Given the description of an element on the screen output the (x, y) to click on. 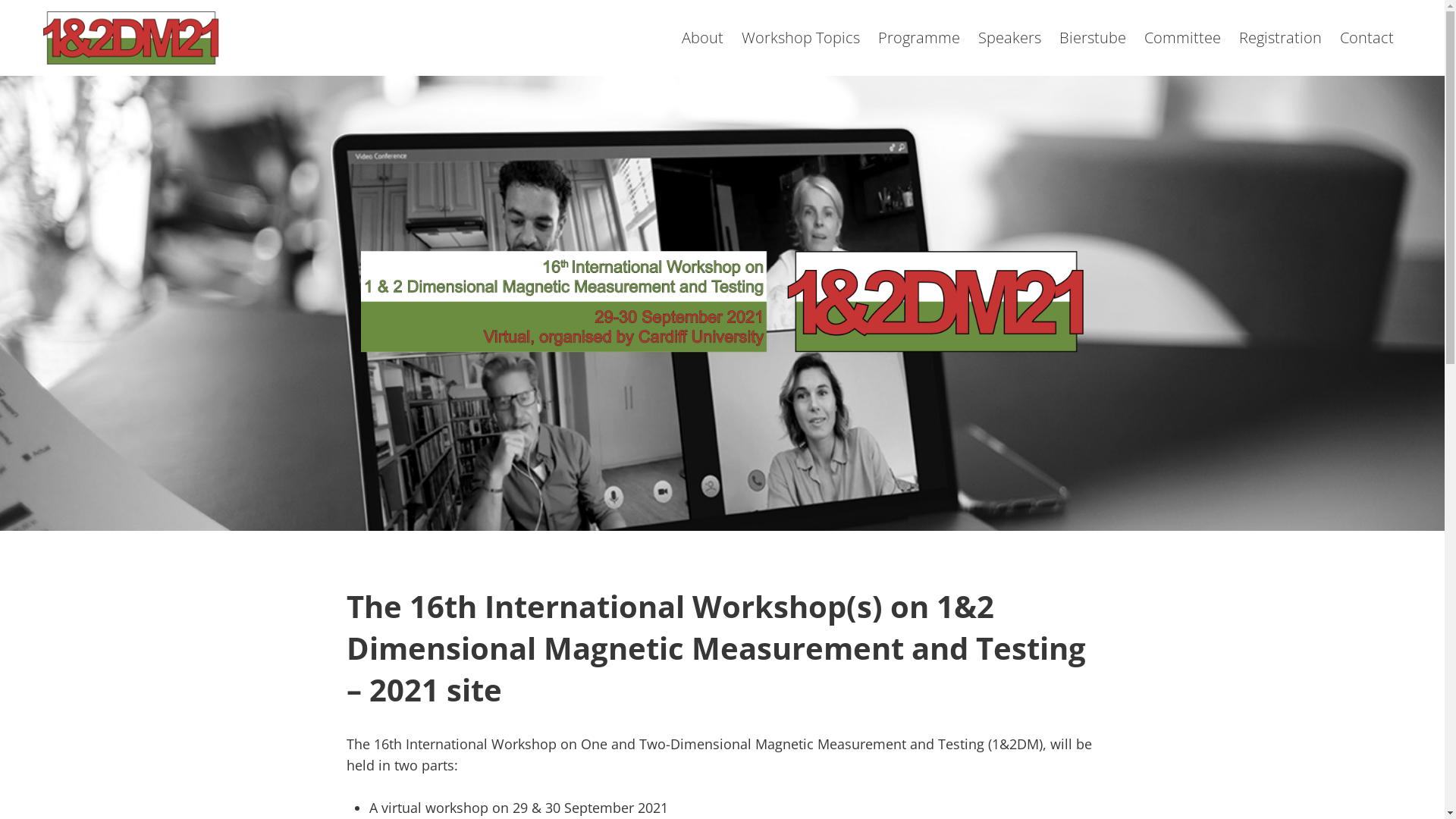
Workshop Topics Element type: text (800, 37)
About Element type: text (702, 37)
Speakers Element type: text (1009, 37)
Committee Element type: text (1182, 37)
Programme Element type: text (919, 37)
Contact Element type: text (1366, 37)
Bierstube Element type: text (1092, 37)
Registration Element type: text (1280, 37)
